Given the description of an element on the screen output the (x, y) to click on. 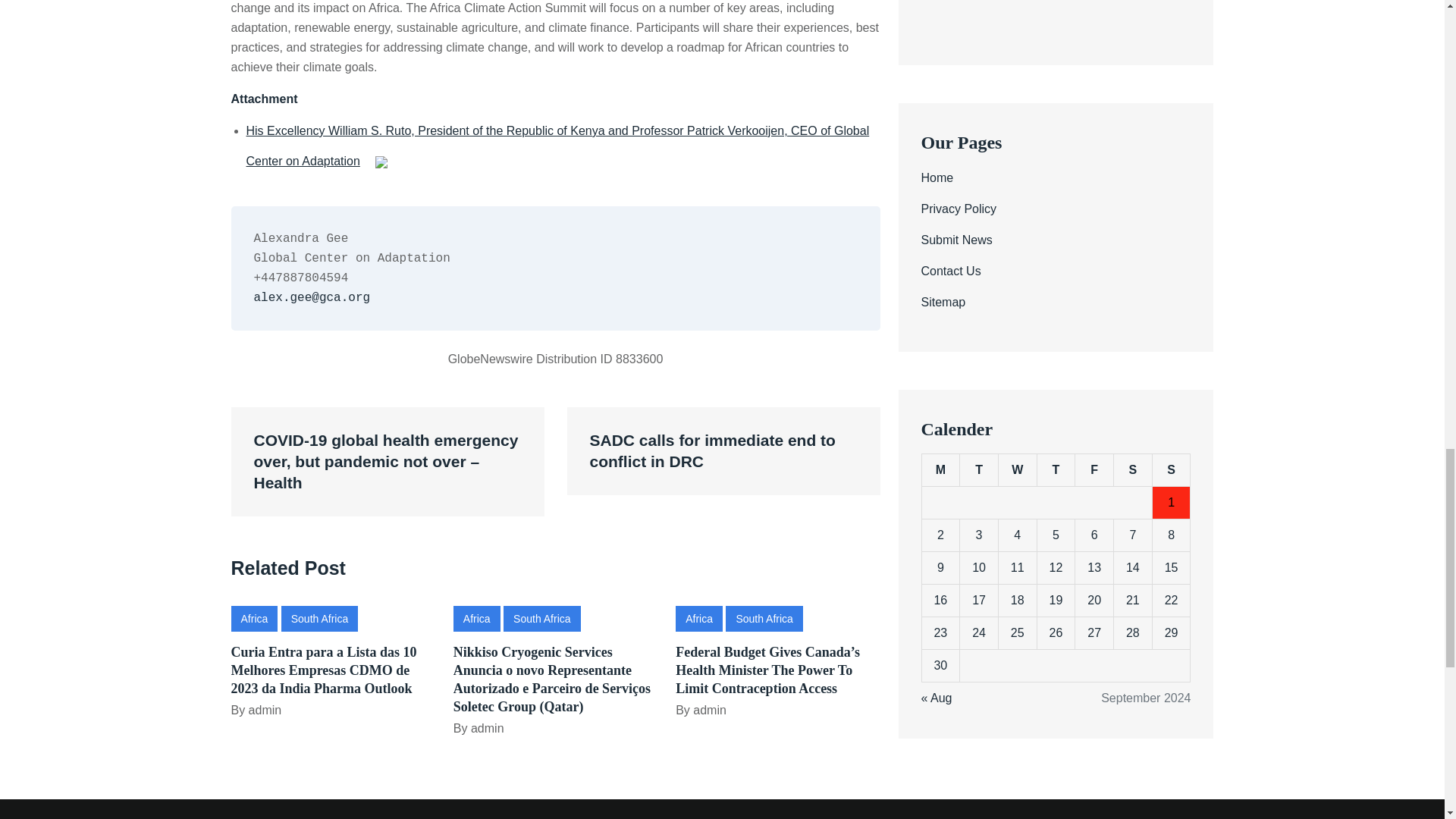
South Africa (319, 617)
Wednesday (1016, 137)
South Africa (541, 617)
Africa (476, 617)
Monday (940, 137)
Sunday (1171, 137)
Saturday (1133, 137)
Friday (1094, 137)
